Given the description of an element on the screen output the (x, y) to click on. 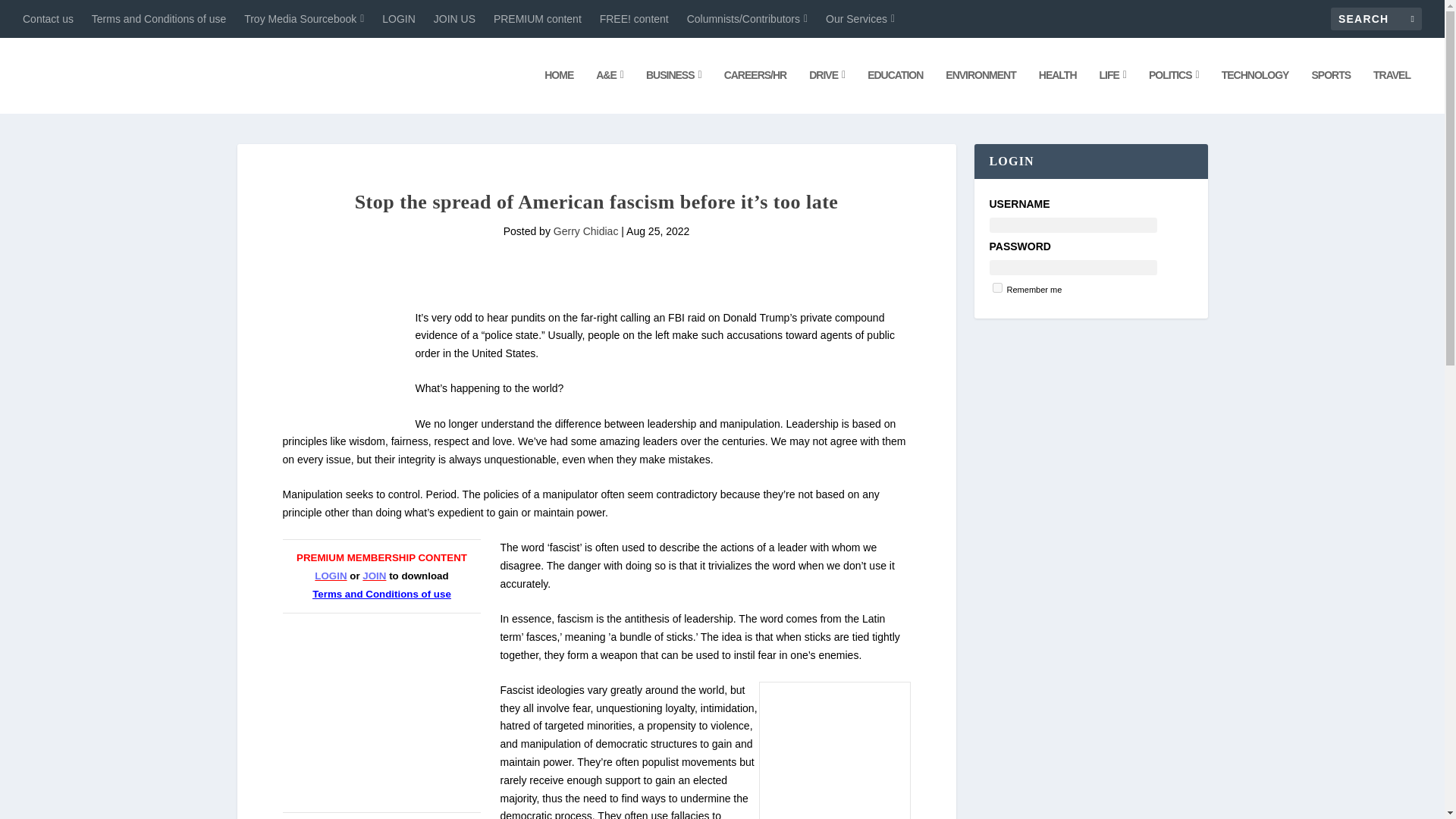
EDUCATION (895, 90)
Contact us (48, 18)
Search for: (1376, 18)
PREMIUM content (536, 18)
BUSINESS (673, 90)
Terms and Conditions of use (158, 18)
Posts by Gerry Chidiac (585, 231)
Troy Media Sourcebook (304, 18)
JOIN US (454, 18)
FREE! content (633, 18)
